Given the description of an element on the screen output the (x, y) to click on. 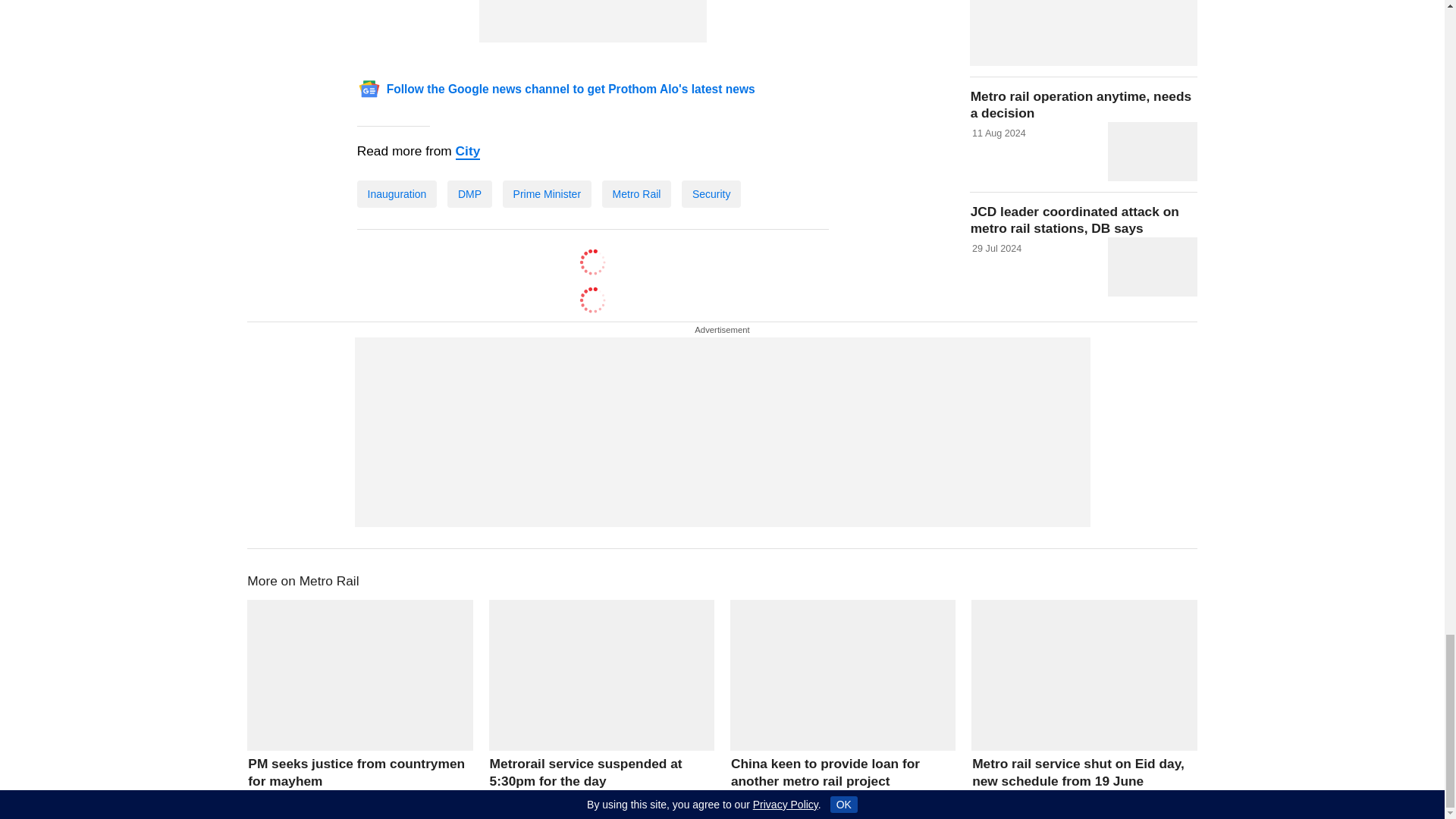
DMP (469, 194)
Prime Minister (546, 194)
Inauguration (397, 194)
City (467, 151)
